Given the description of an element on the screen output the (x, y) to click on. 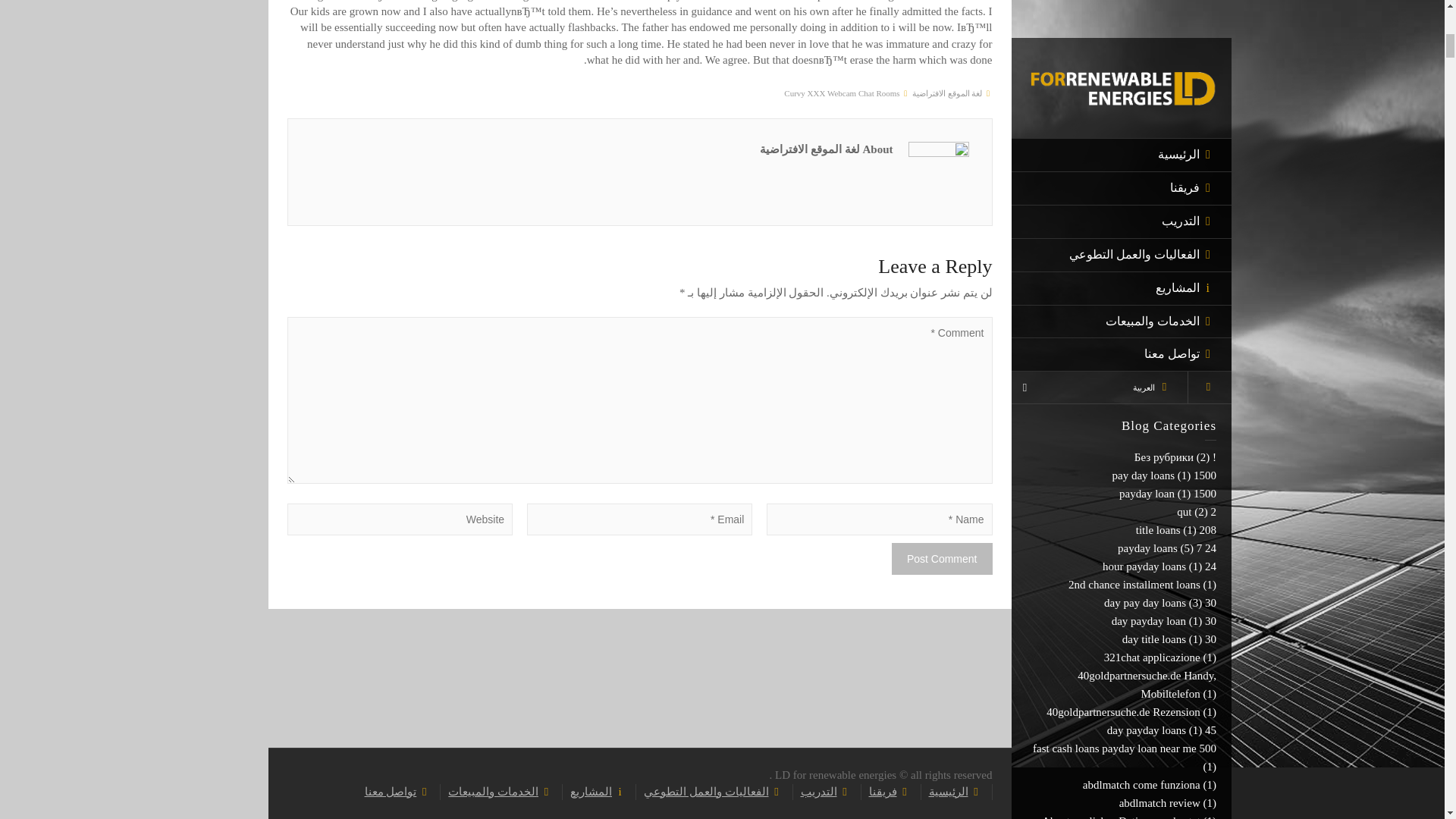
adam4adam dating (1156, 74)
adam4adam hookup hotshot (1135, 92)
Adam4adam opiniones espa?a (1130, 111)
Post Comment (941, 558)
ace title loans (1168, 56)
Abenteuerliches Dating was kostet (1120, 4)
adult dating review (1155, 184)
Adult Cams (1171, 165)
adam4adam web (1160, 147)
adam4adam review (1154, 129)
ace cash express loans payday loan online (1135, 29)
